Given the description of an element on the screen output the (x, y) to click on. 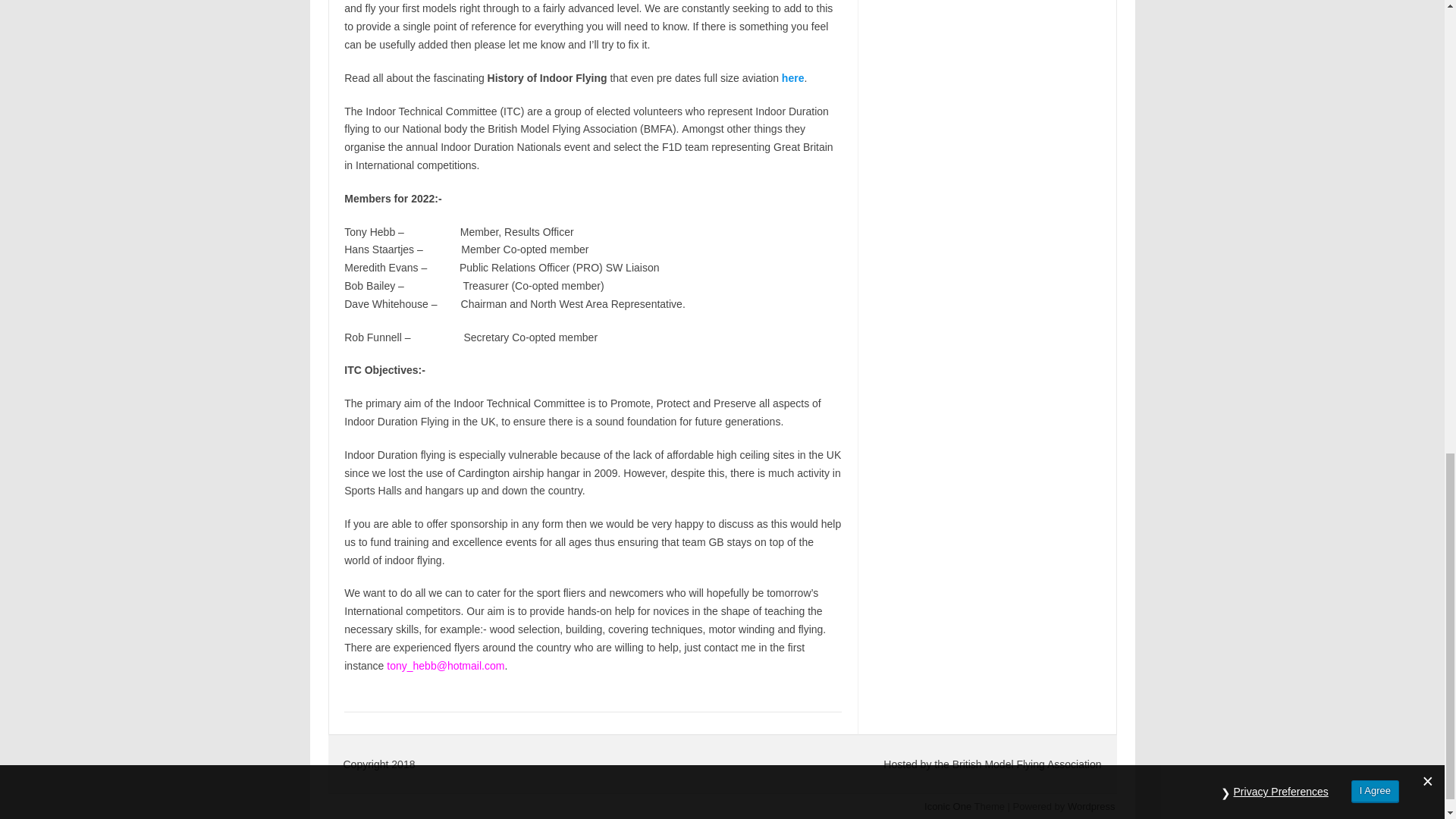
here (793, 78)
